Given the description of an element on the screen output the (x, y) to click on. 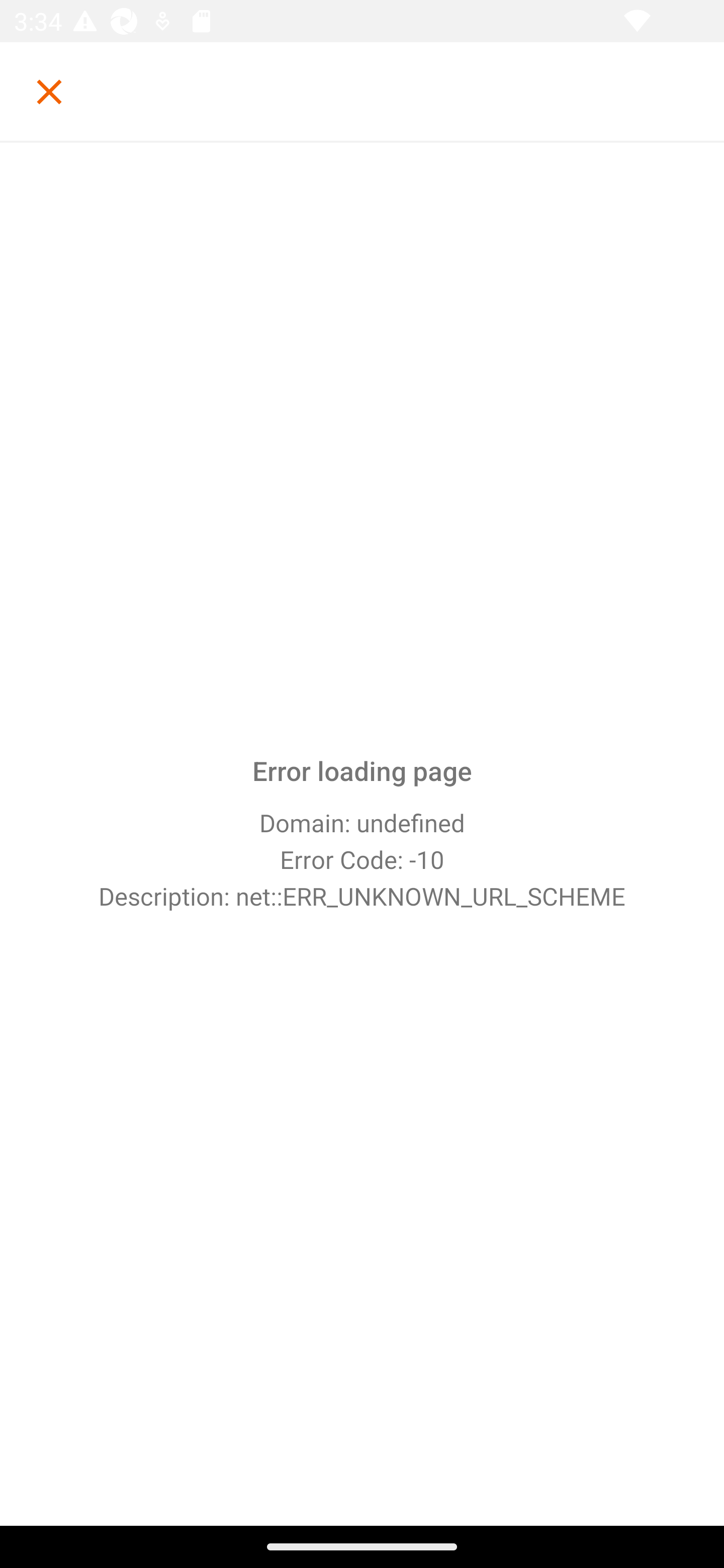
 (49, 91)
